Given the description of an element on the screen output the (x, y) to click on. 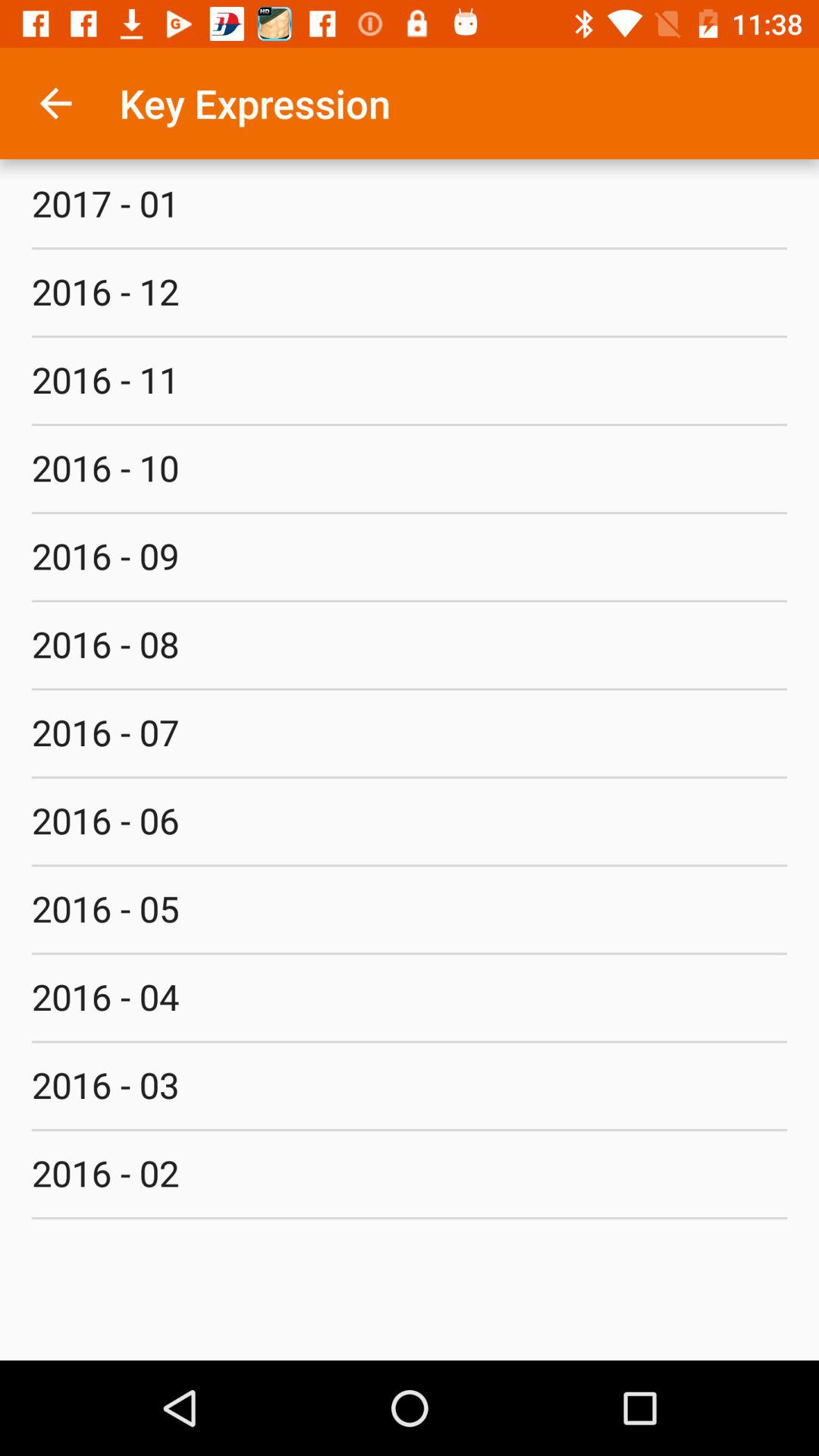
select item above 2017 - 01 item (55, 103)
